Given the description of an element on the screen output the (x, y) to click on. 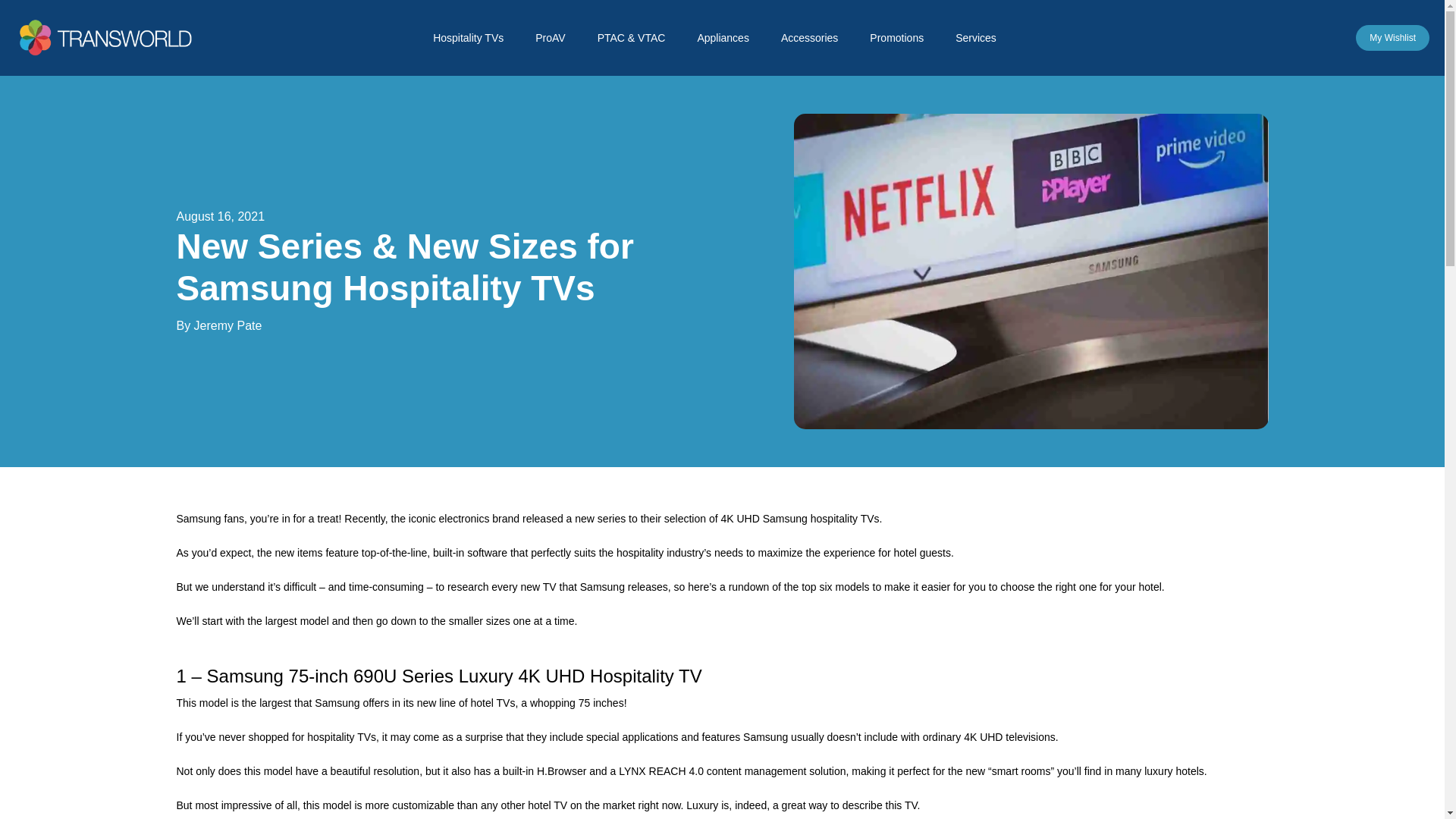
Hospitality TVs (475, 40)
ProAV (557, 40)
Appliances (730, 40)
tws-logo-website (108, 37)
Accessories (816, 40)
Promotions (904, 40)
